Given the description of an element on the screen output the (x, y) to click on. 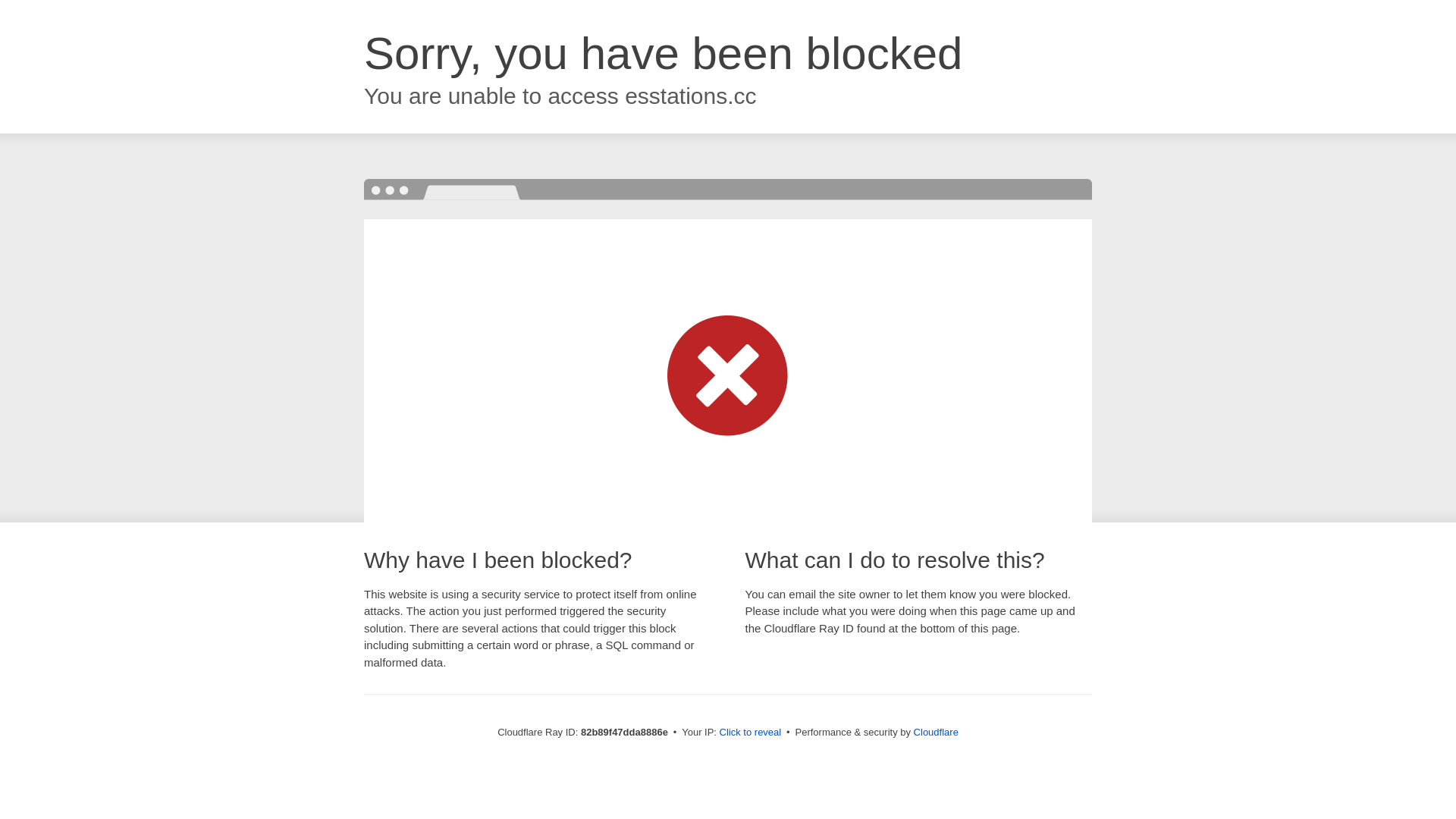
Cloudflare Element type: text (935, 731)
Click to reveal Element type: text (750, 732)
